Given the description of an element on the screen output the (x, y) to click on. 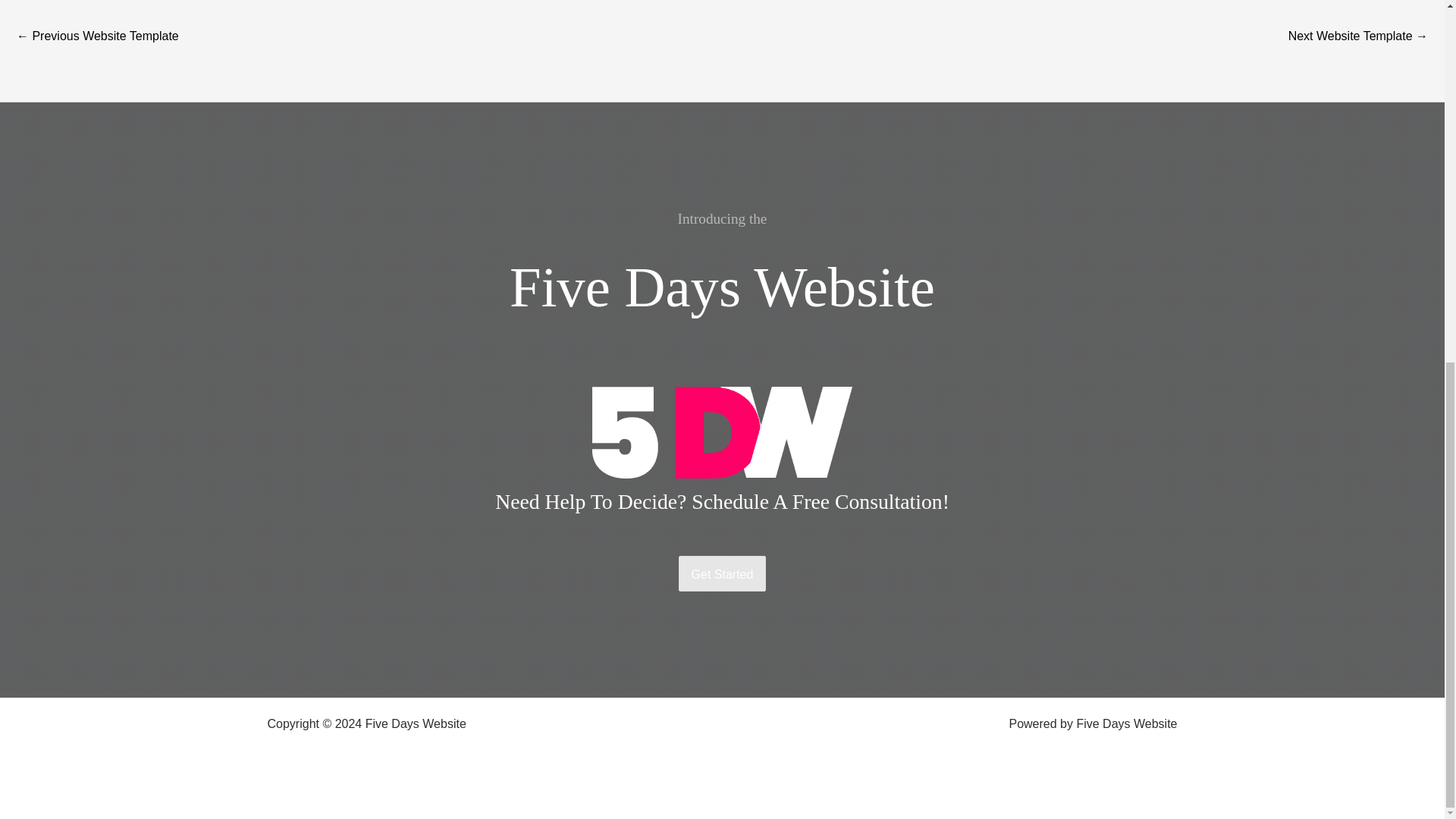
Hotel and BnB (97, 37)
Marketing Agency (1358, 37)
Get Started (722, 574)
